Given the description of an element on the screen output the (x, y) to click on. 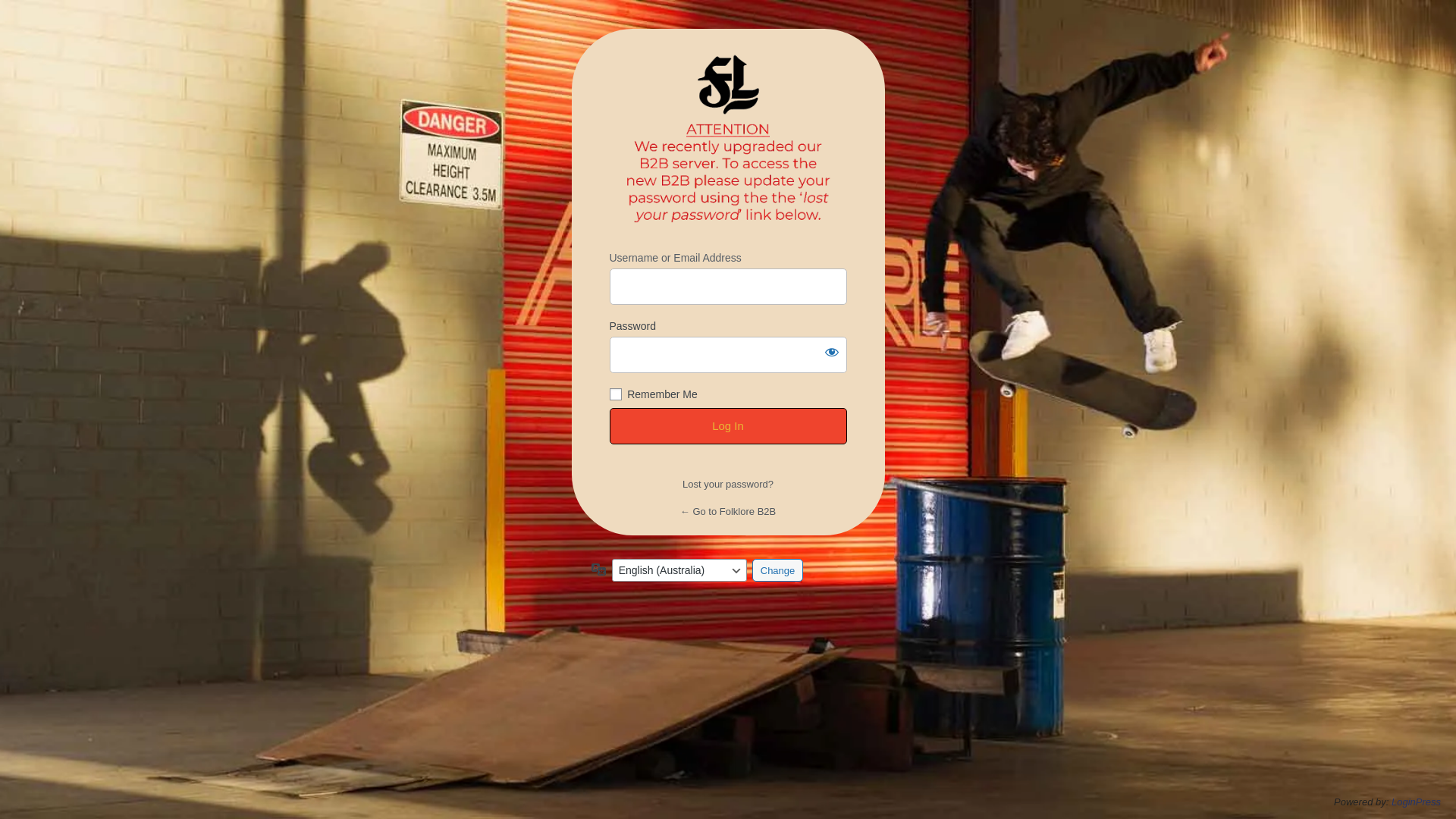
Change Element type: text (777, 569)
LoginPress Element type: text (1415, 801)
https://brandsb2b.folklore.com.au Element type: text (727, 139)
Lost your password? Element type: text (727, 483)
Log In Element type: text (728, 425)
